Given the description of an element on the screen output the (x, y) to click on. 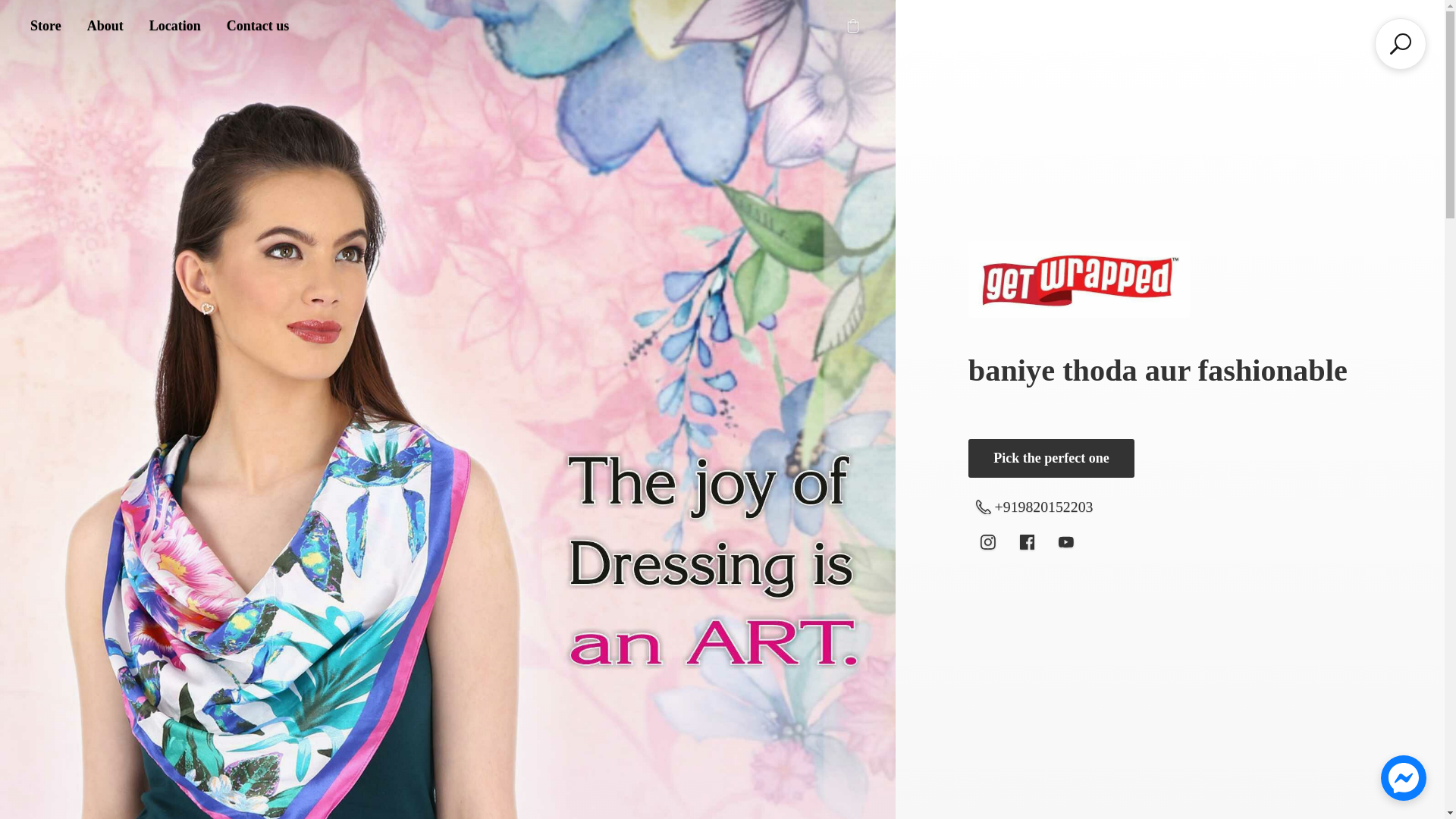
Location (175, 25)
Pick the perfect one (1051, 457)
Contact us (258, 25)
About (105, 25)
Store (45, 25)
